Given the description of an element on the screen output the (x, y) to click on. 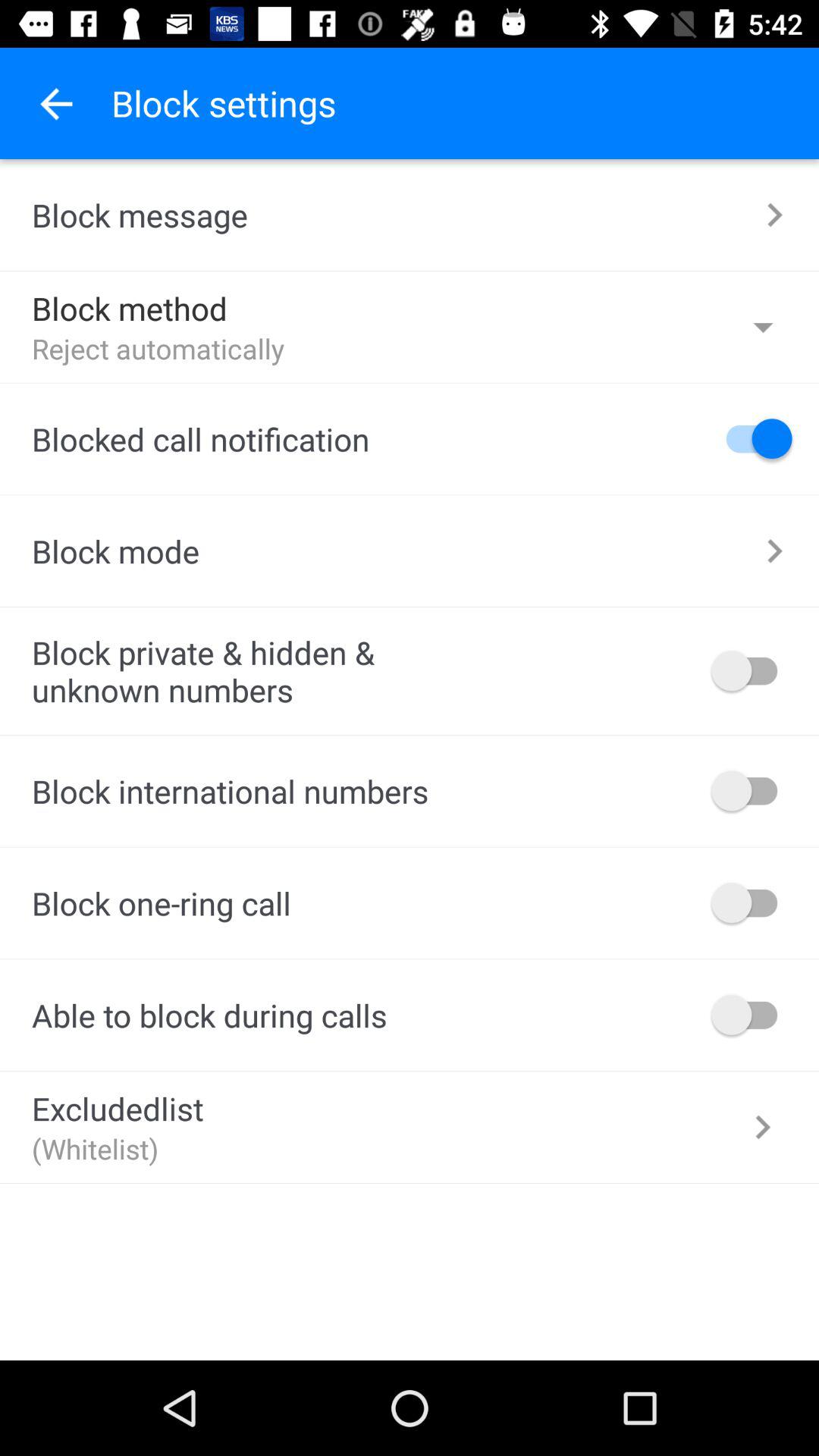
toggle blocking private hidden unknown numbers (751, 670)
